Given the description of an element on the screen output the (x, y) to click on. 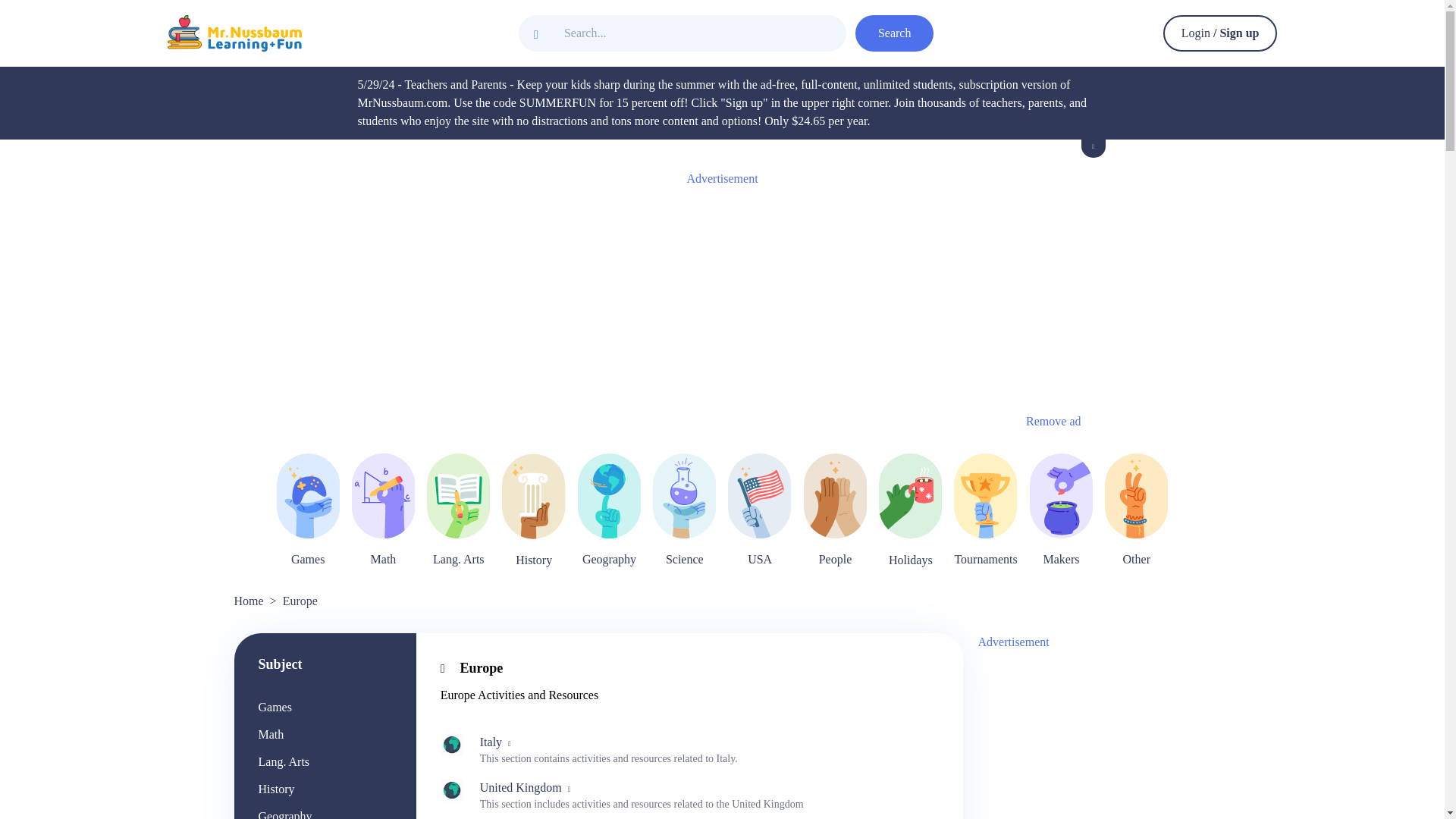
Advertisement (1091, 739)
Search (895, 33)
History (275, 788)
Geography (284, 814)
Math (270, 734)
Europe (299, 601)
Home (247, 601)
Europe (472, 667)
Search (895, 33)
